Given the description of an element on the screen output the (x, y) to click on. 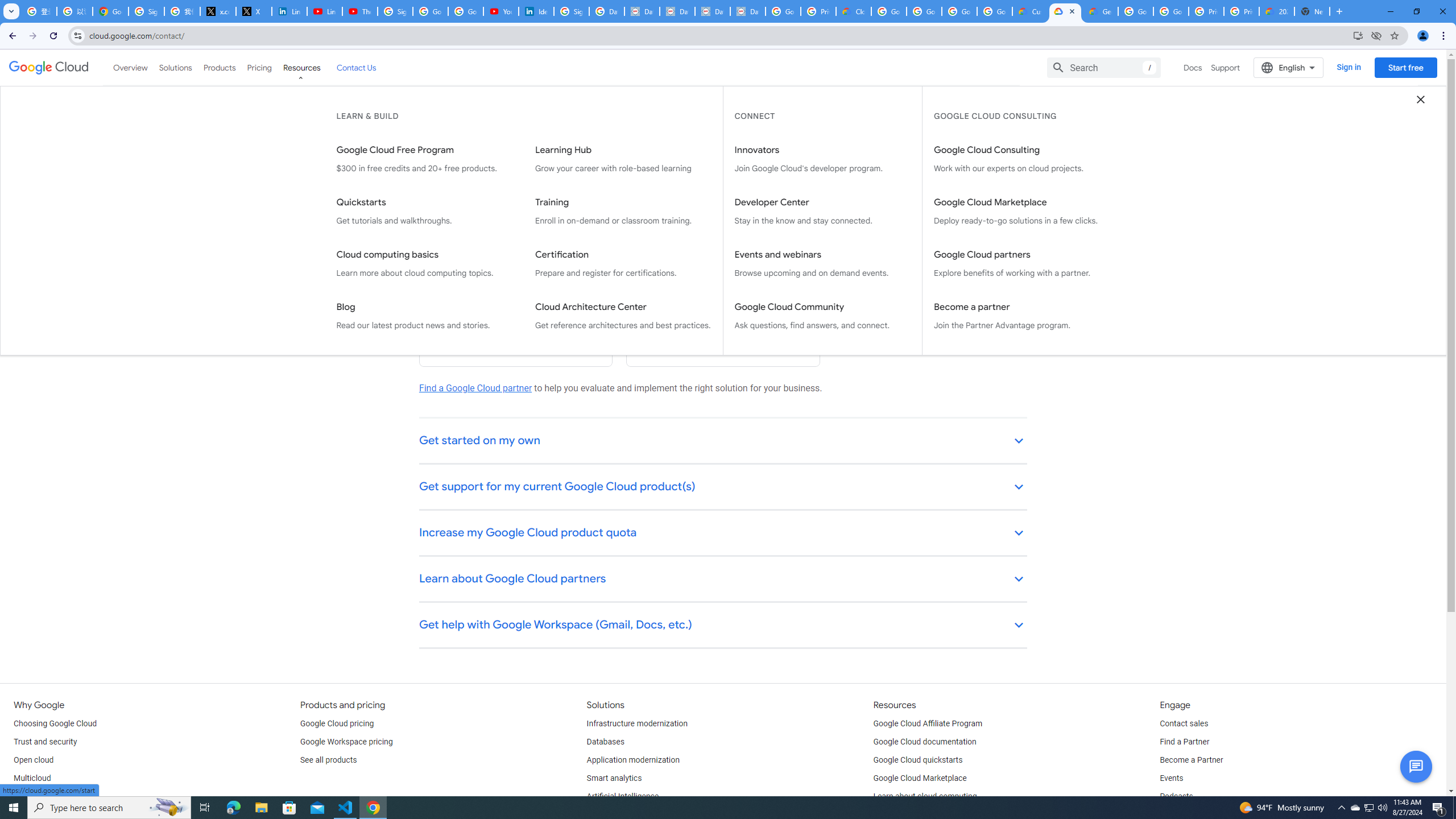
Google Cloud quickstarts (917, 760)
Quickstarts Get tutorials and walkthroughs. (424, 211)
Button to activate chat (1416, 766)
X (253, 11)
Products (218, 67)
Sign in - Google Accounts (394, 11)
LinkedIn - YouTube (324, 11)
Restore (1416, 11)
Talk to a Google Cloud sales specialist keyboard_arrow_up (723, 195)
Bookmark this tab (1393, 35)
Certification Prepare and register for certifications. (623, 264)
